Given the description of an element on the screen output the (x, y) to click on. 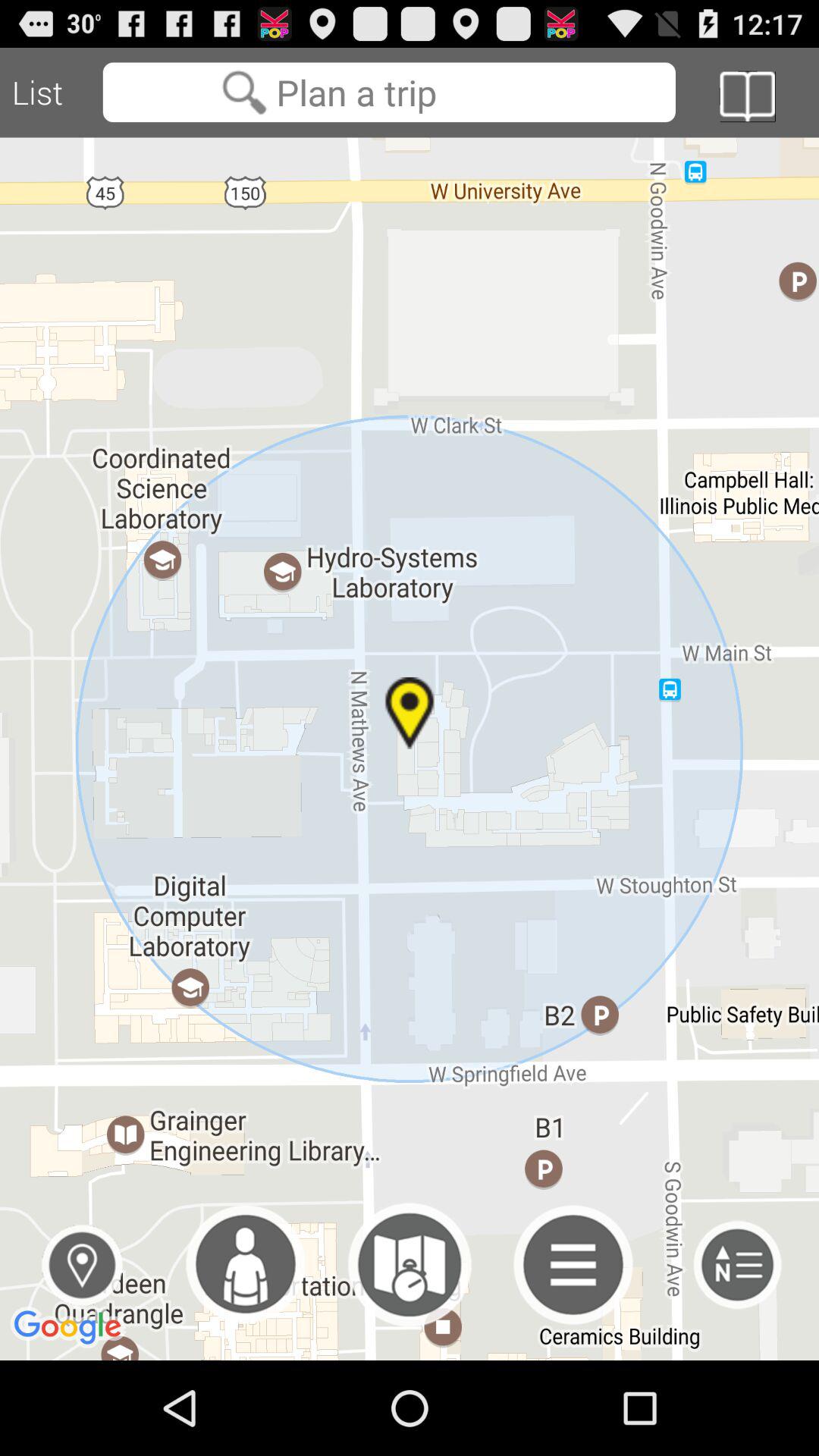
jump to the list icon (51, 92)
